Given the description of an element on the screen output the (x, y) to click on. 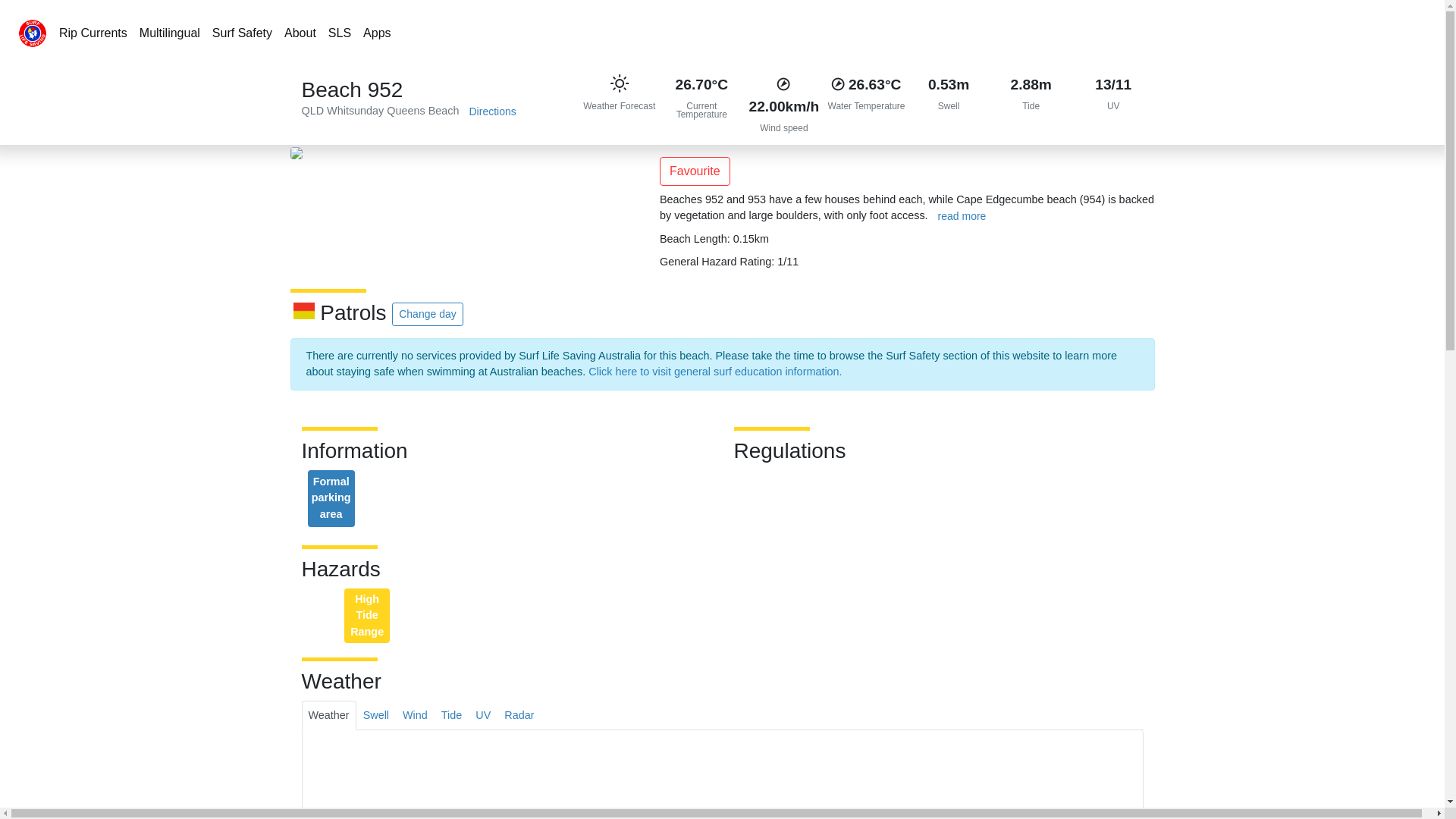
Surf Safety Element type: text (242, 33)
Apps Element type: text (376, 33)
Rip Currents Element type: text (93, 33)
SLS Element type: text (339, 33)
Whitsunday Element type: text (354, 110)
UV Element type: text (482, 715)
Weather Element type: text (328, 715)
Queens Beach Element type: text (422, 110)
QLD Element type: text (312, 110)
Wind Element type: text (414, 715)
read more Element type: text (962, 216)
Directions Element type: text (492, 111)
Tide Element type: text (451, 715)
Swell Element type: text (375, 715)
Favourite Element type: text (694, 170)
Change day Element type: text (427, 314)
Multilingual Element type: text (169, 33)
About Element type: text (300, 33)
Click here to visit general surf education information. Element type: text (714, 371)
Radar Element type: text (518, 715)
